Given the description of an element on the screen output the (x, y) to click on. 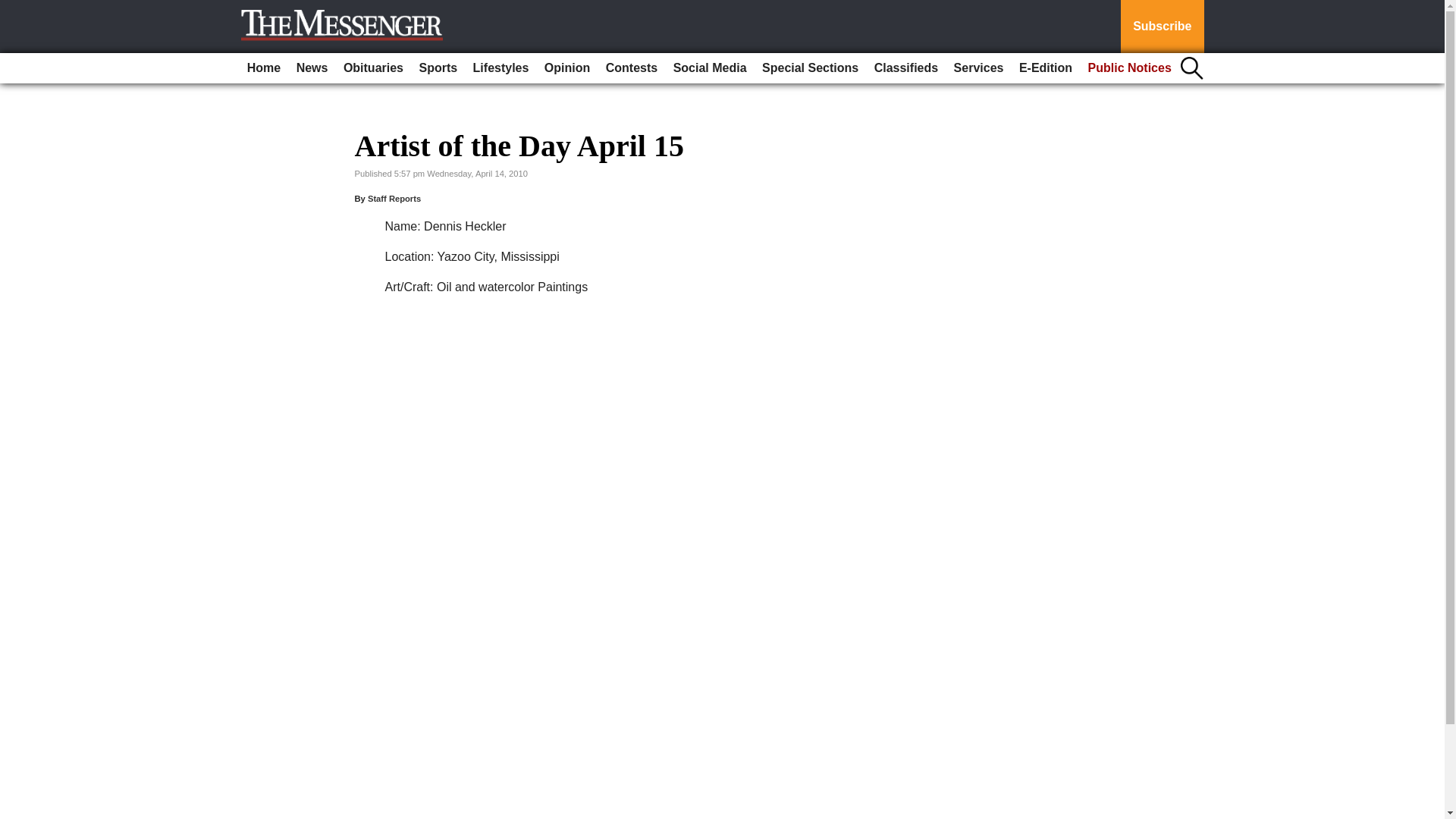
Subscribe (1162, 26)
Public Notices (1129, 68)
Special Sections (809, 68)
Social Media (709, 68)
Classifieds (905, 68)
Home (263, 68)
Opinion (566, 68)
Sports (437, 68)
News (311, 68)
Obituaries (373, 68)
Services (978, 68)
Lifestyles (501, 68)
Contests (631, 68)
E-Edition (1045, 68)
